Given the description of an element on the screen output the (x, y) to click on. 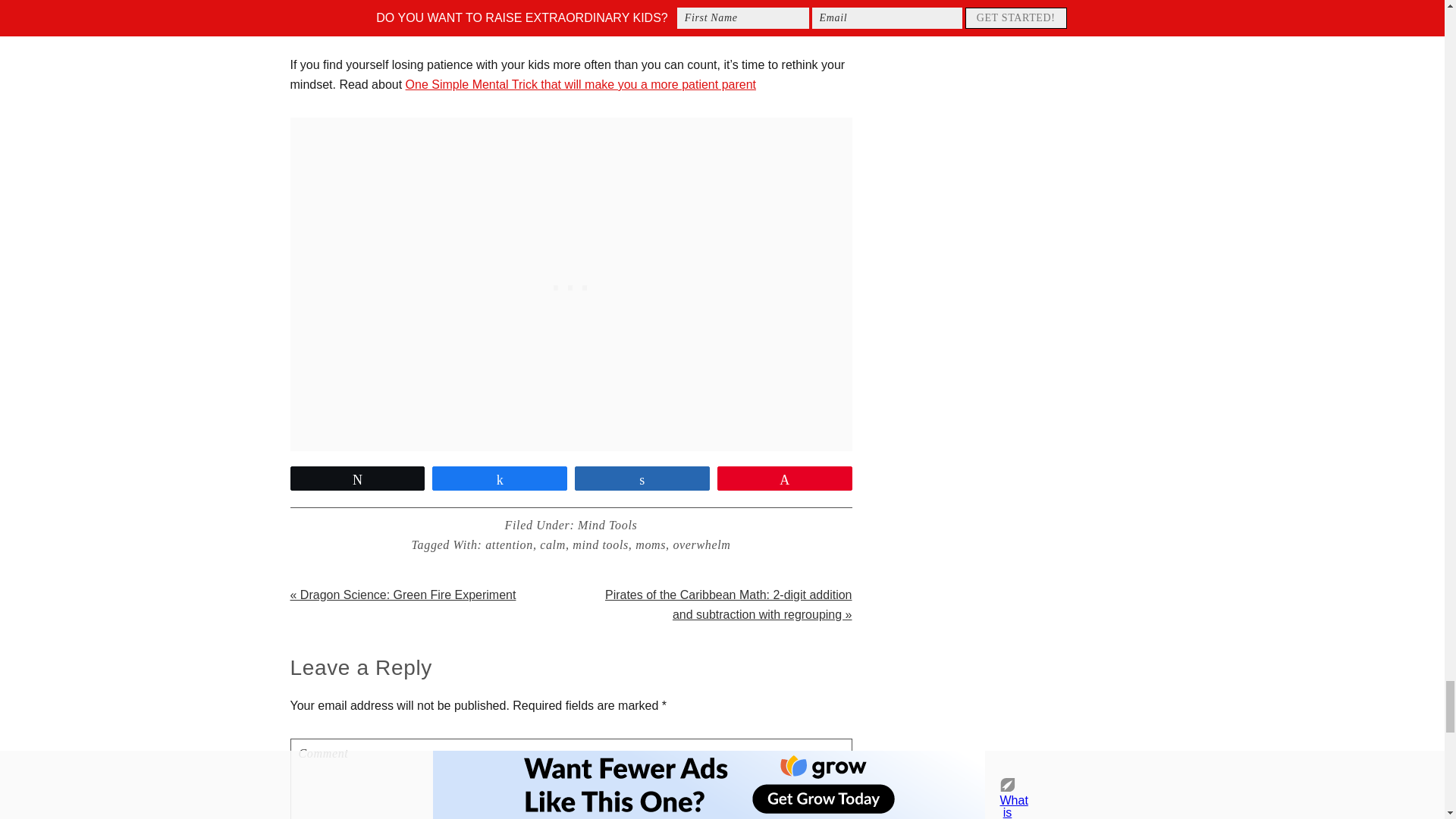
overwhelm (701, 544)
mind tools (600, 544)
calm (553, 544)
moms (649, 544)
Mind Tools (607, 524)
attention (508, 544)
